Given the description of an element on the screen output the (x, y) to click on. 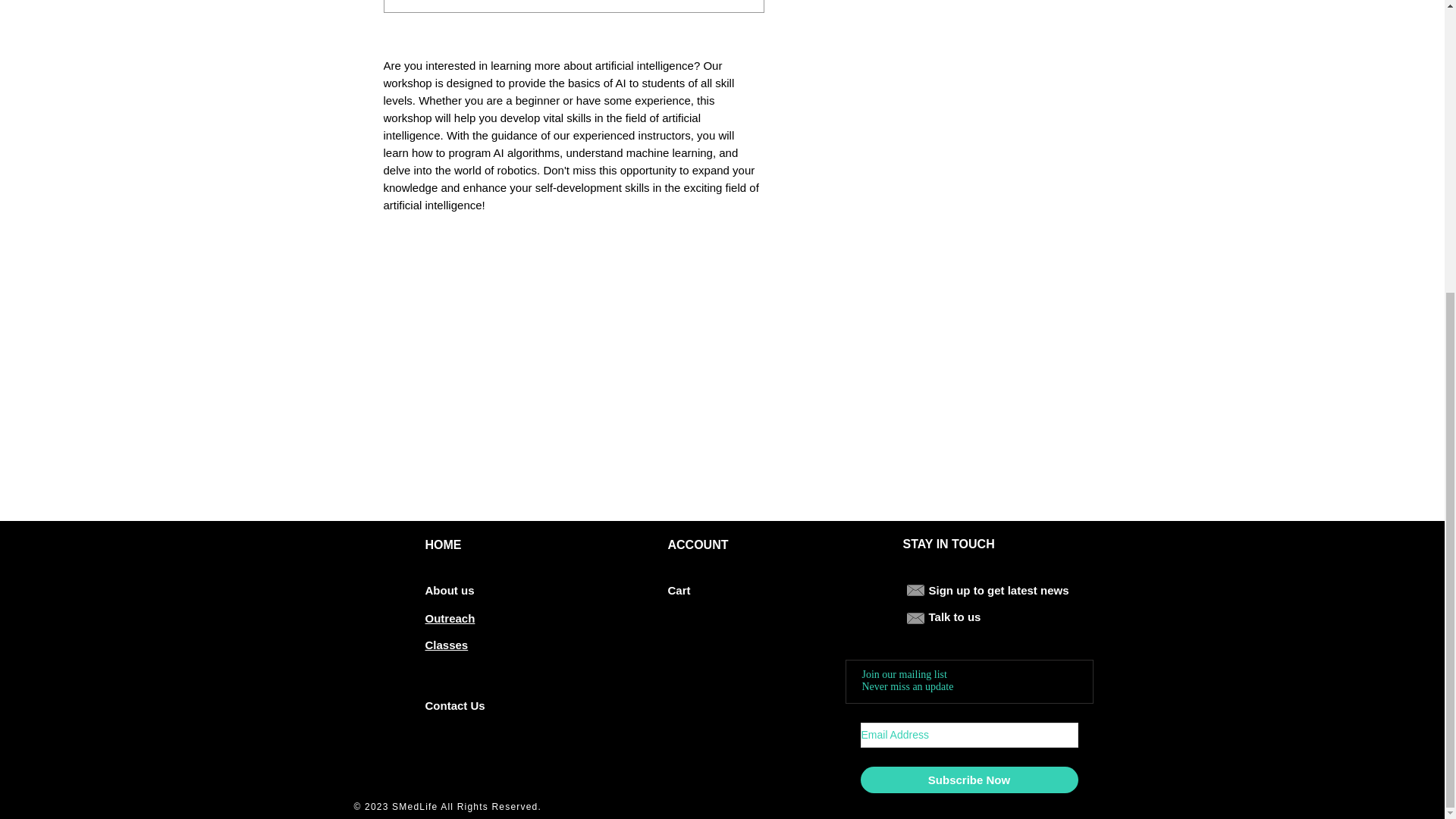
HOME (443, 544)
Subscribe Now (968, 779)
About us (449, 590)
Cart (678, 590)
Outreach (449, 617)
Sign up (948, 590)
Classes (446, 644)
latest news (1037, 590)
Contact Us (454, 705)
Talk to us (953, 616)
to get (989, 590)
ACCOUNT (697, 544)
